Given the description of an element on the screen output the (x, y) to click on. 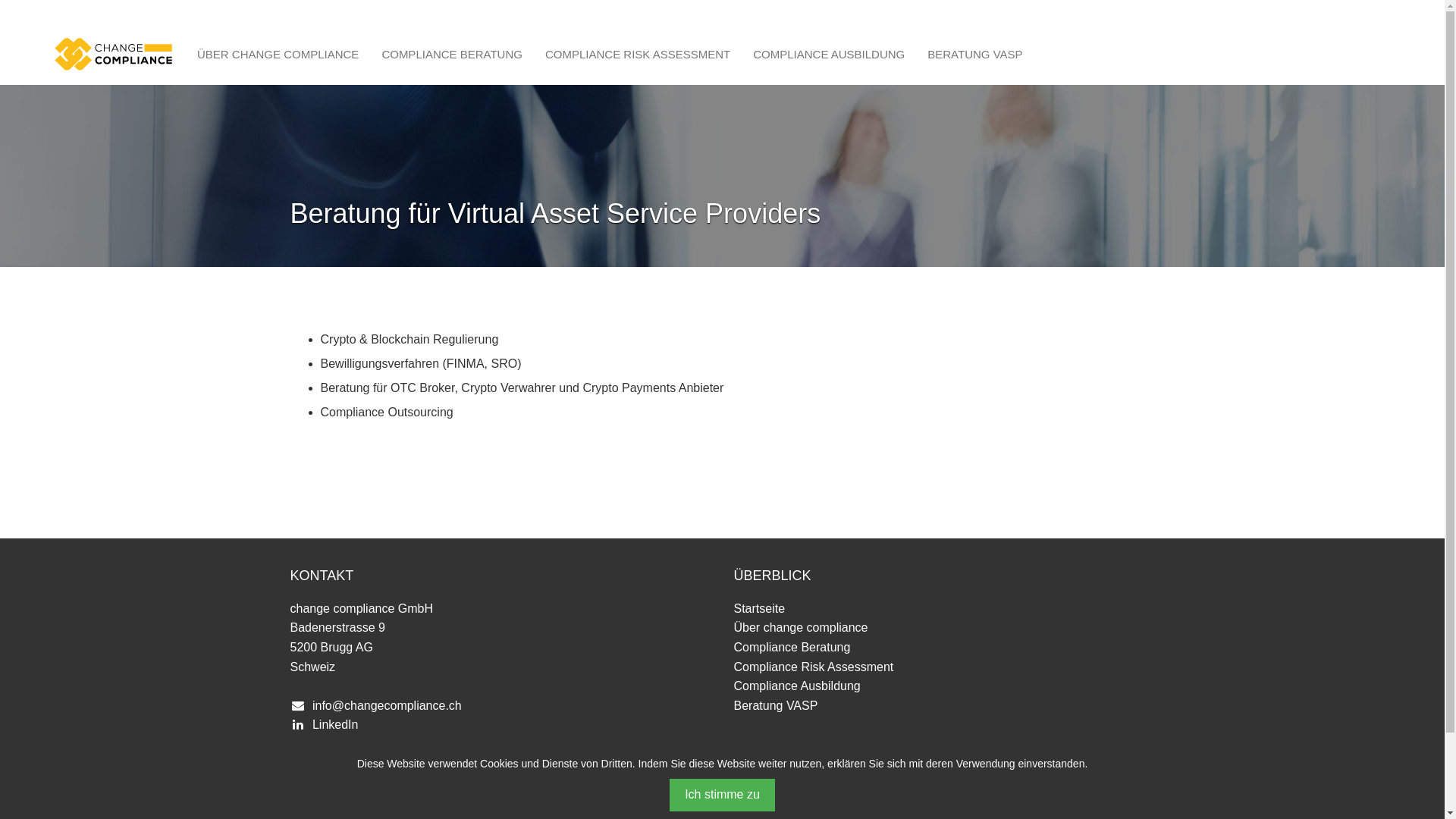
Ich stimme zu Element type: text (722, 794)
Compliance Beratung Element type: text (792, 646)
Startseite Element type: text (759, 608)
Compliance Risk Assessment Element type: text (814, 666)
Compliance Ausbildung Element type: text (797, 685)
COMPLIANCE AUSBILDUNG Element type: text (828, 54)
info@changecompliance.ch Element type: text (386, 705)
Beratung VASP Element type: text (776, 705)
BERATUNG VASP Element type: text (974, 54)
COMPLIANCE BERATUNG Element type: text (451, 54)
COMPLIANCE RISK ASSESSMENT Element type: text (637, 54)
LinkedIn Element type: text (335, 724)
